Given the description of an element on the screen output the (x, y) to click on. 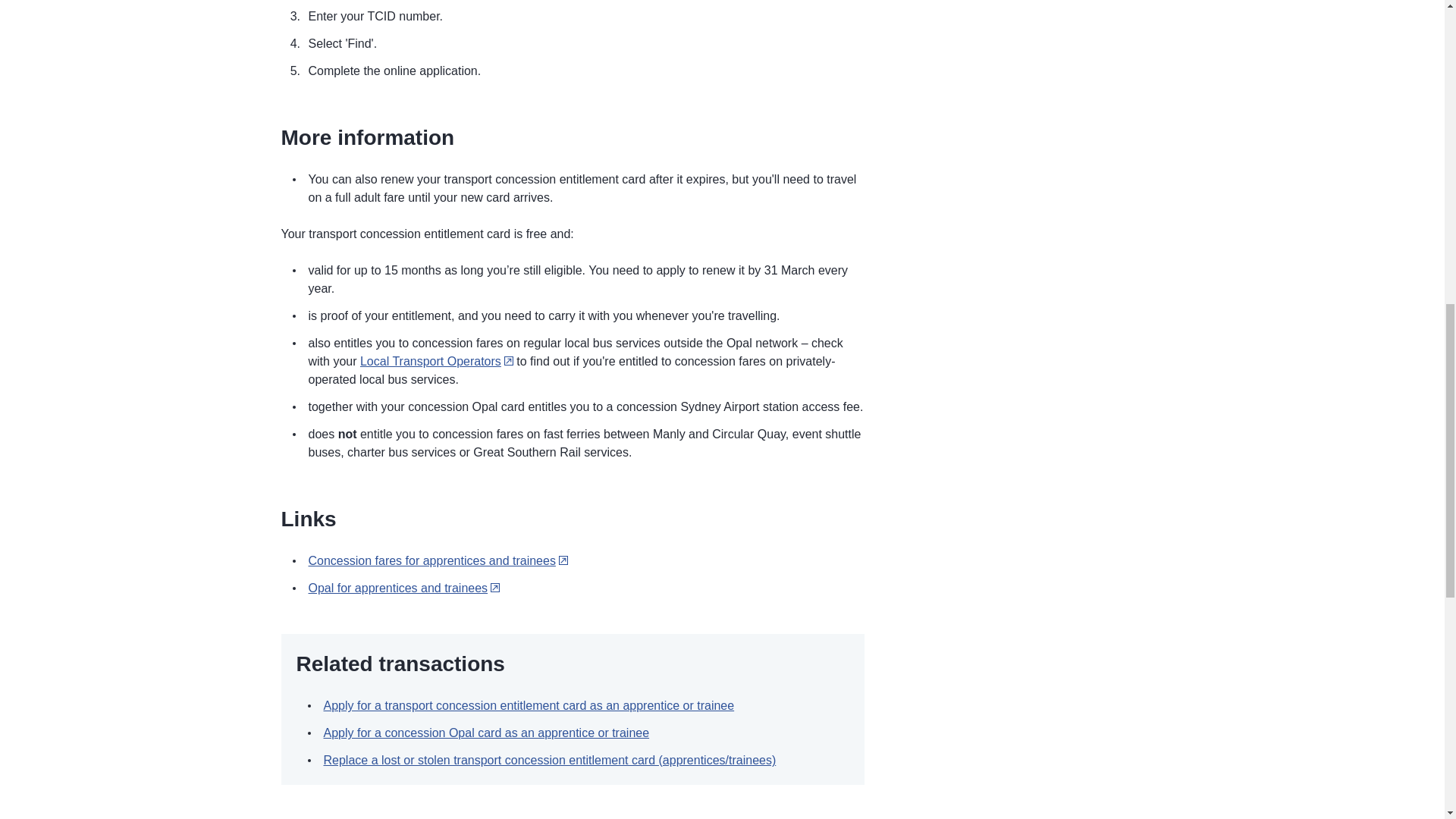
Apply for a concession Opal card as an apprentice or trainee (486, 732)
Opal for apprentices and trainees (403, 587)
Concession fares for apprentices and trainees (437, 560)
Local Transport Operators (436, 360)
